Given the description of an element on the screen output the (x, y) to click on. 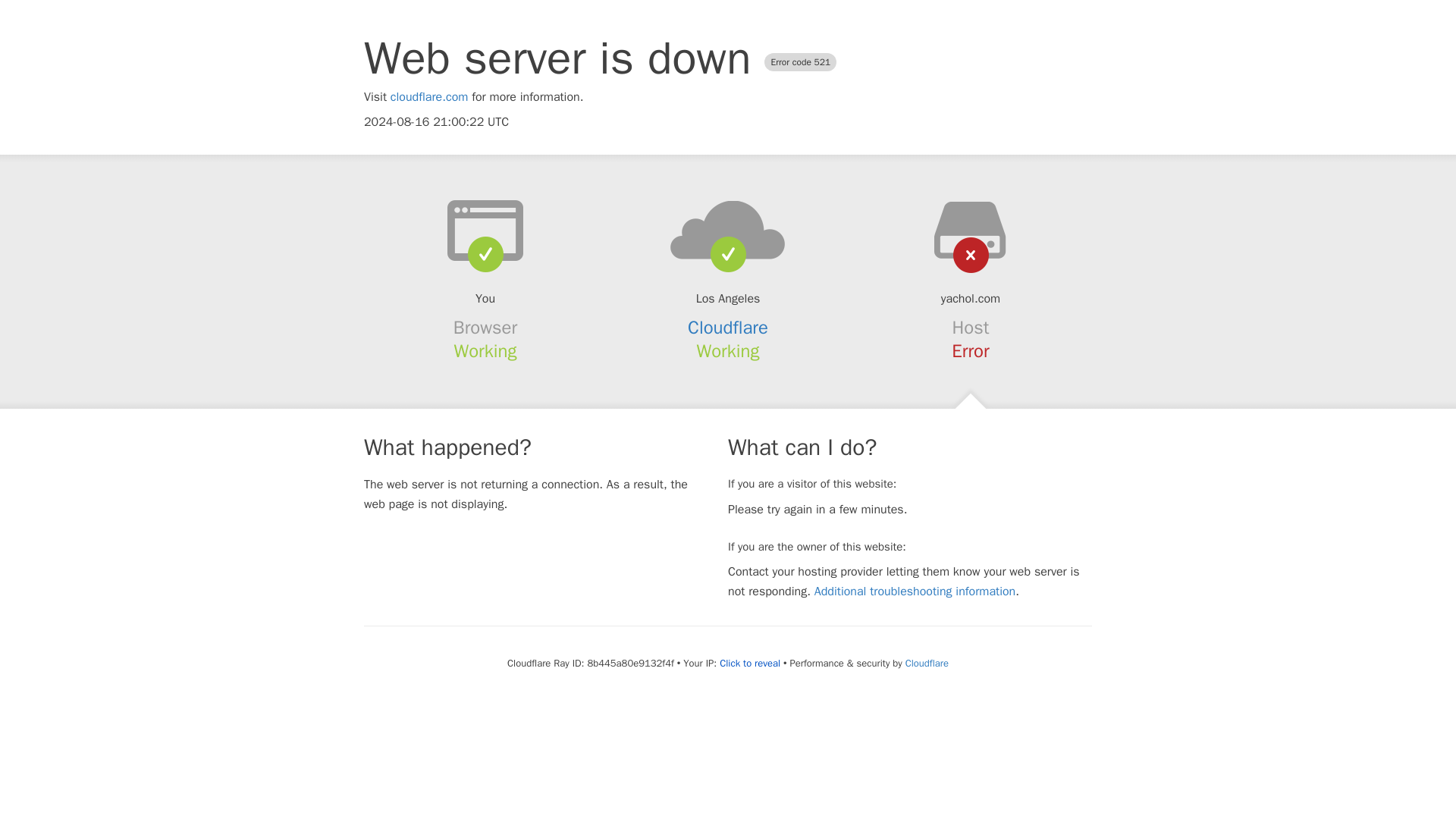
Cloudflare (927, 662)
Cloudflare (727, 327)
Additional troubleshooting information (913, 590)
Click to reveal (749, 663)
cloudflare.com (429, 96)
